Given the description of an element on the screen output the (x, y) to click on. 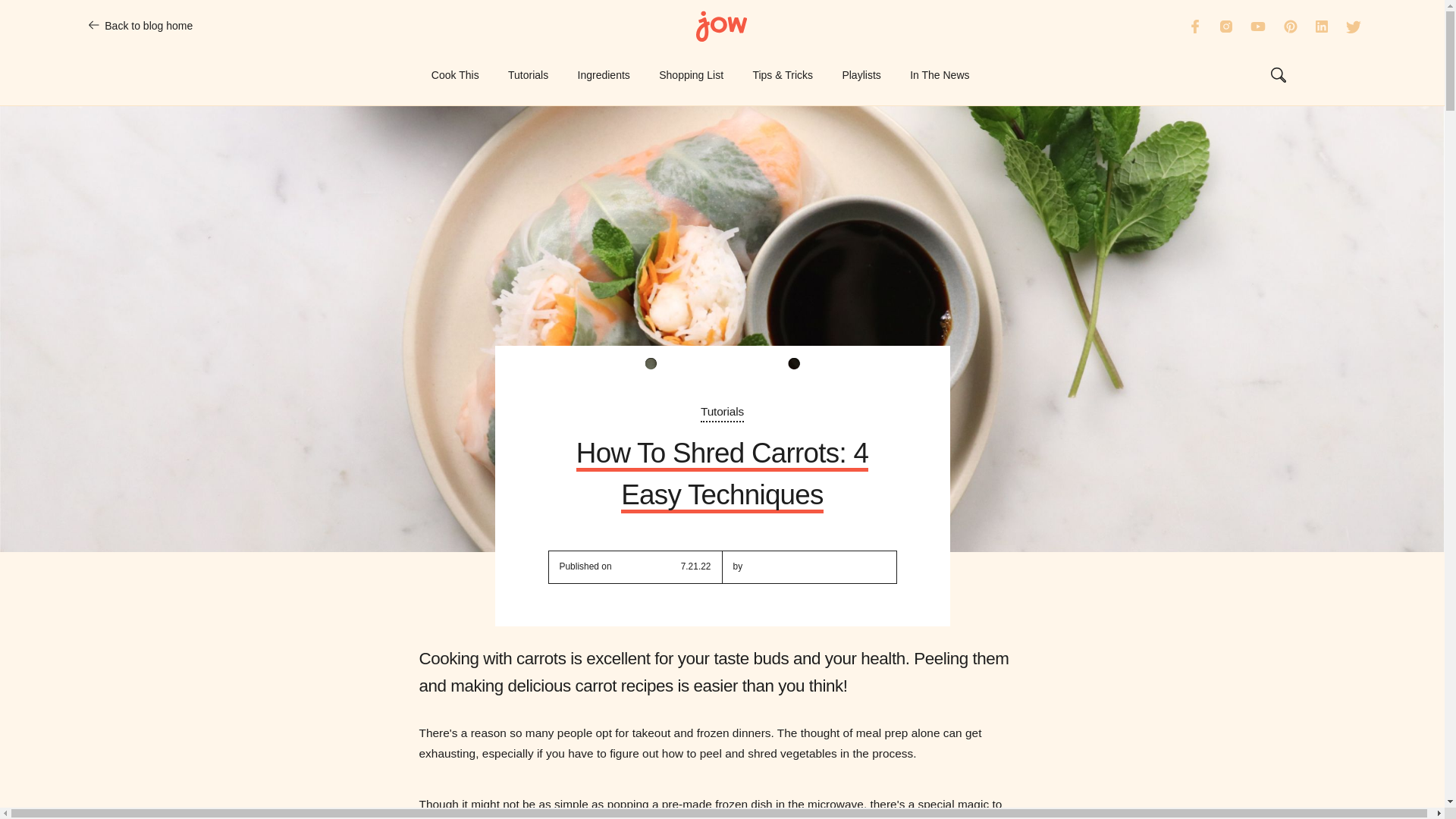
Tutorials (722, 412)
How To Shred Carrots: 4 Easy Techniques (721, 473)
